Given the description of an element on the screen output the (x, y) to click on. 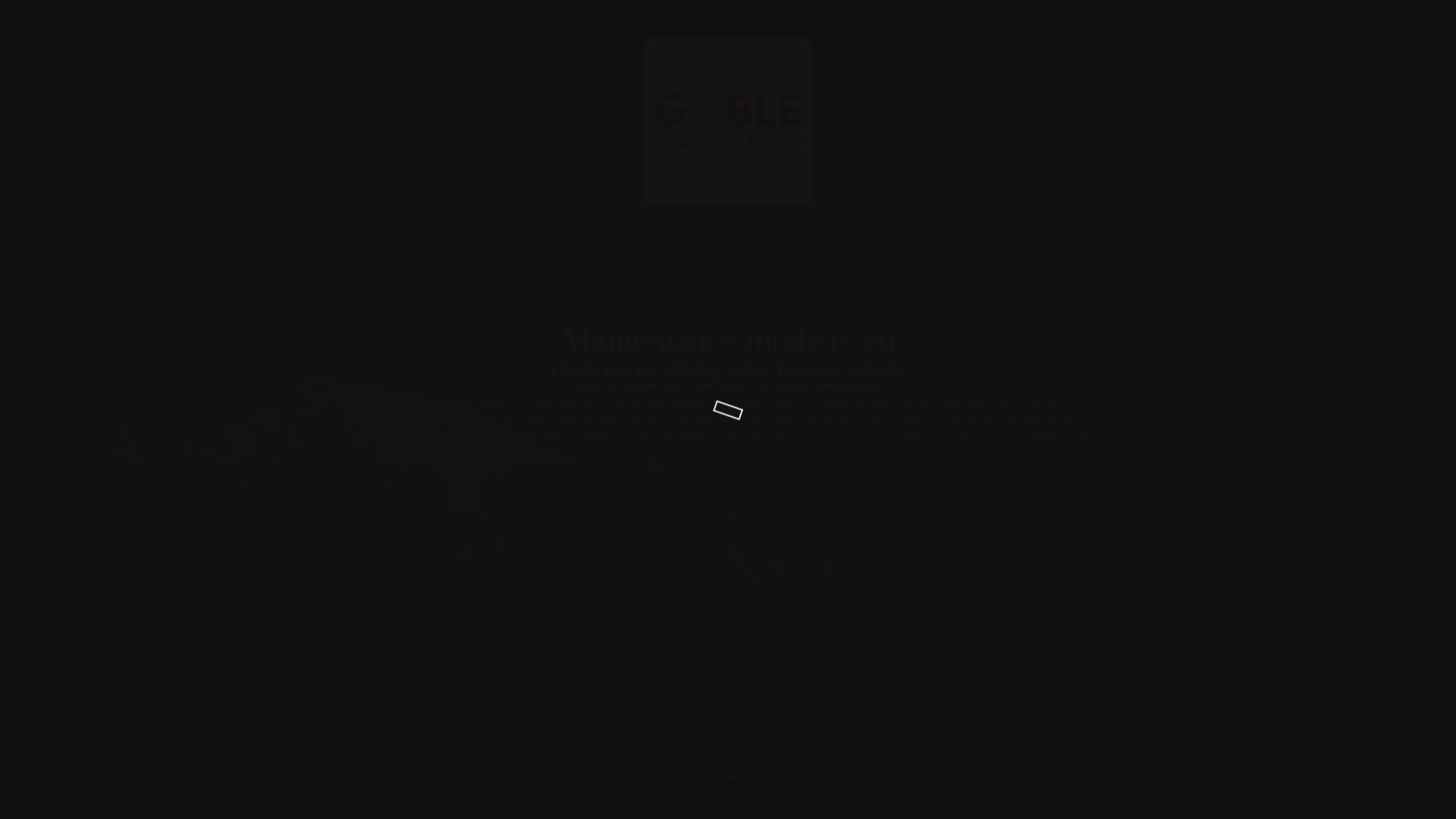
BDC Law (856, 384)
BDC Law (740, 404)
